Given the description of an element on the screen output the (x, y) to click on. 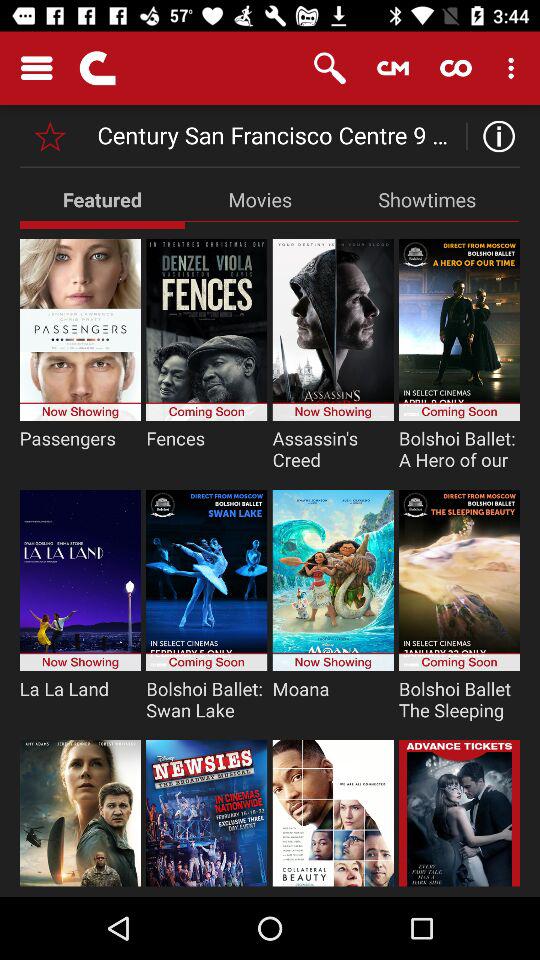
flip to the featured icon (102, 199)
